Given the description of an element on the screen output the (x, y) to click on. 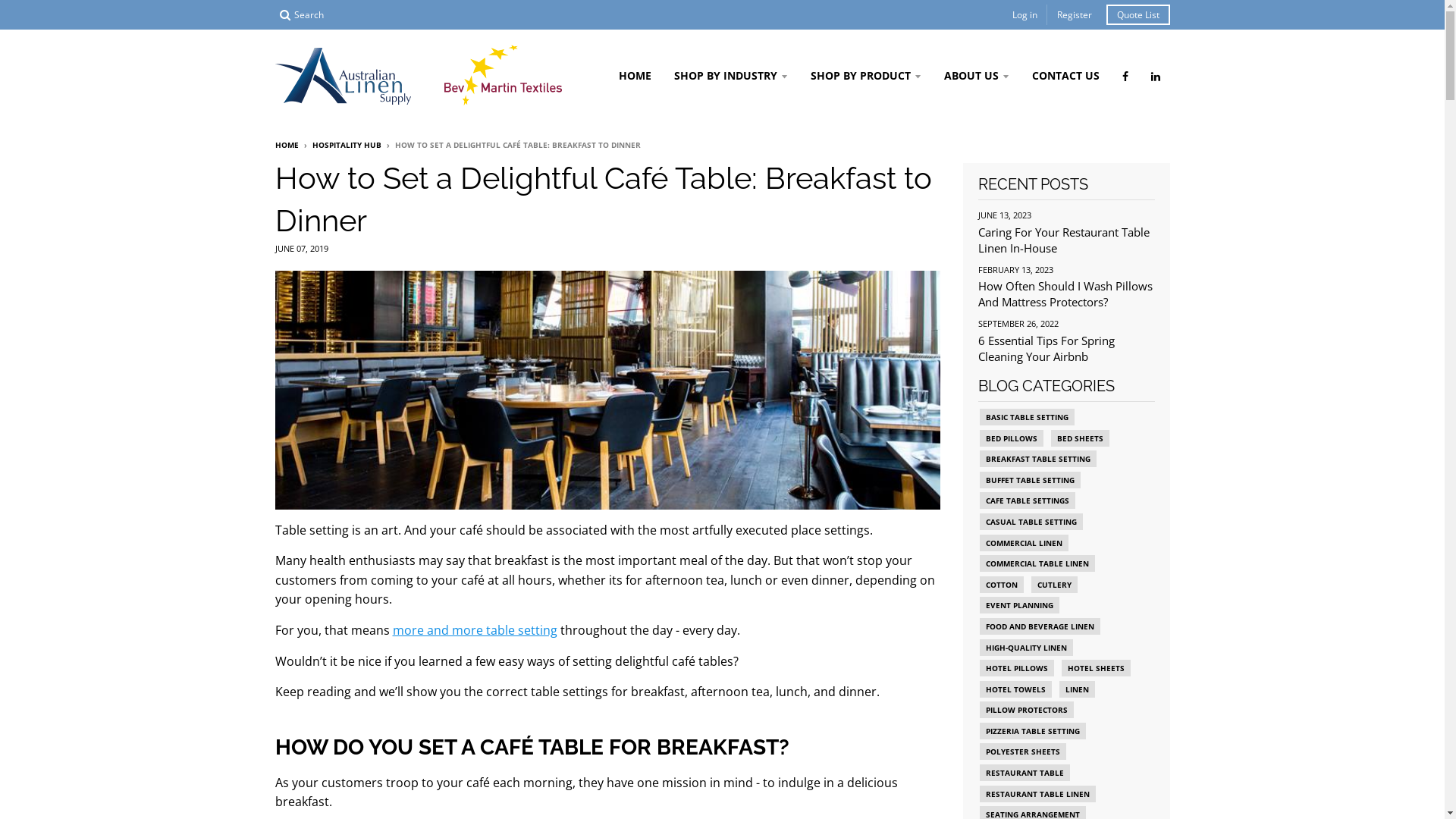
more and more table setting Element type: text (474, 629)
RESTAURANT TABLE LINEN Element type: text (1037, 793)
CUTLERY Element type: text (1054, 584)
HOSPITALITY HUB Element type: text (346, 144)
PILLOW PROTECTORS Element type: text (1026, 709)
POLYESTER SHEETS Element type: text (1022, 751)
BED SHEETS Element type: text (1079, 437)
LINEN Element type: text (1076, 688)
COTTON Element type: text (1001, 584)
BED PILLOWS Element type: text (1011, 437)
EVENT PLANNING Element type: text (1019, 604)
HOTEL PILLOWS Element type: text (1016, 667)
RESTAURANT TABLE Element type: text (1024, 772)
CAFE TABLE SETTINGS Element type: text (1027, 500)
HOME Element type: text (634, 75)
Register Element type: text (1074, 14)
ABOUT US Element type: text (976, 75)
Log in Element type: text (1024, 14)
BREAKFAST TABLE SETTING Element type: text (1038, 458)
SHOP BY PRODUCT Element type: text (865, 75)
HIGH-QUALITY LINEN Element type: text (1026, 646)
COMMERCIAL LINEN Element type: text (1023, 542)
BASIC TABLE SETTING Element type: text (1027, 416)
HOME Element type: text (286, 144)
HOTEL SHEETS Element type: text (1096, 667)
HOTEL TOWELS Element type: text (1015, 688)
SHOP BY INDUSTRY Element type: text (730, 75)
CONTACT US Element type: text (1065, 75)
Australian Linen Supply on LinkedIn Element type: hover (1154, 75)
Search Element type: text (300, 14)
Quote List Element type: text (1137, 14)
PIZZERIA TABLE SETTING Element type: text (1032, 730)
CASUAL TABLE SETTING Element type: text (1031, 521)
FOOD AND BEVERAGE LINEN Element type: text (1039, 626)
Australian Linen Supply on Facebook Element type: hover (1124, 75)
BUFFET TABLE SETTING Element type: text (1030, 479)
COMMERCIAL TABLE LINEN Element type: text (1037, 563)
